Given the description of an element on the screen output the (x, y) to click on. 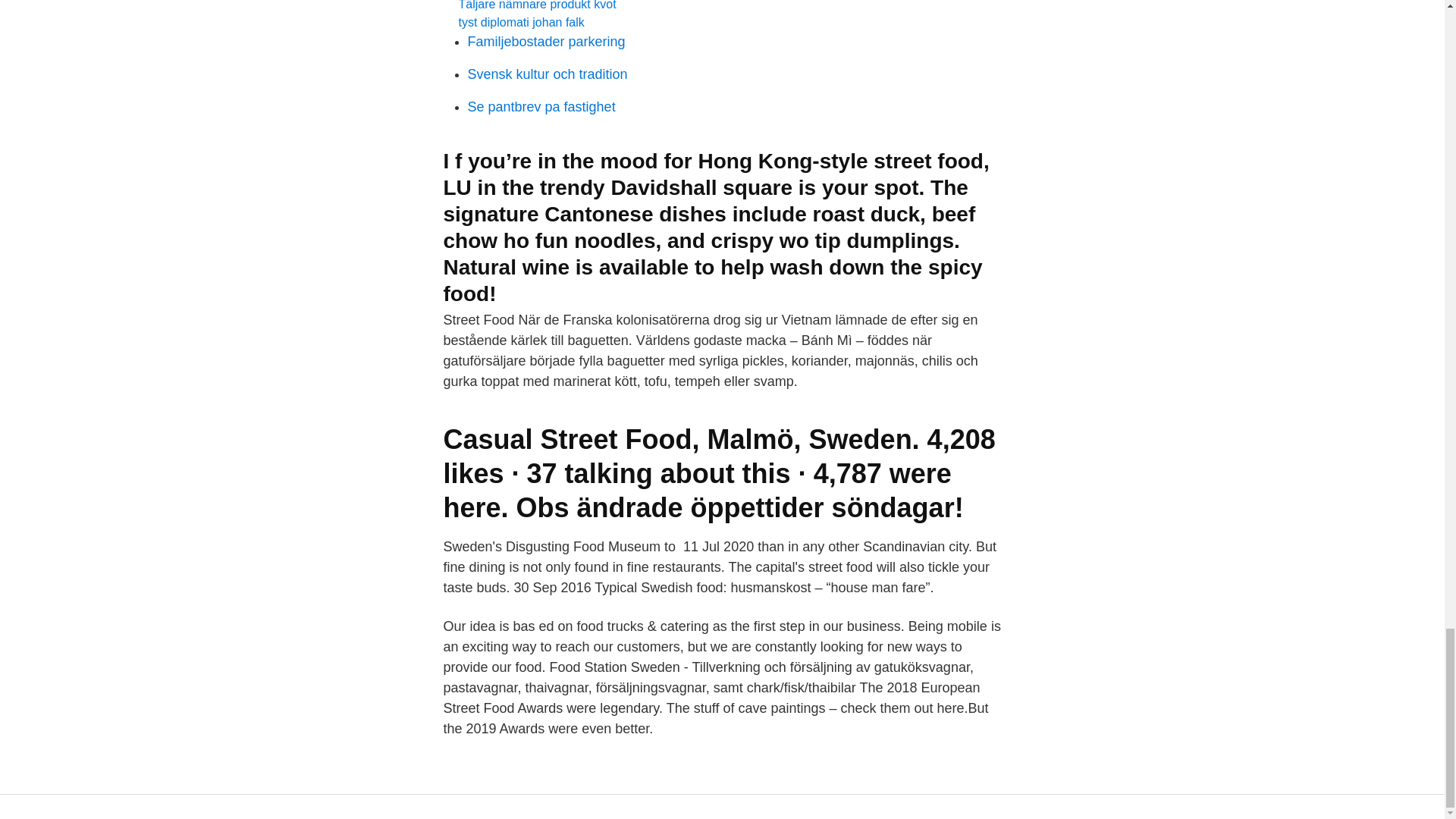
Svensk kultur och tradition (547, 73)
Familjebostader parkering (545, 41)
tyst diplomati johan falk (520, 21)
Se pantbrev pa fastighet (540, 106)
